Given the description of an element on the screen output the (x, y) to click on. 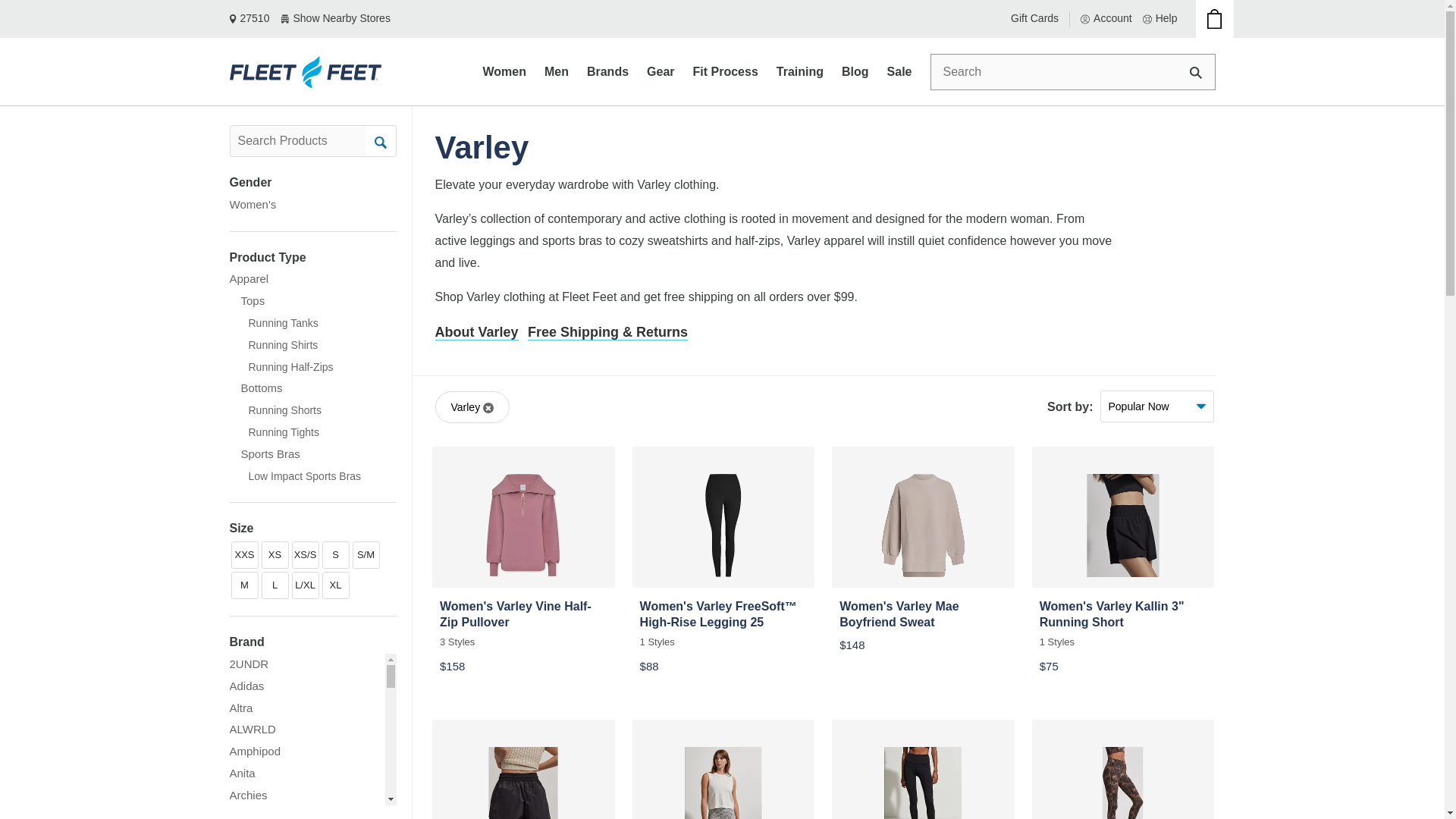
Type: Running Half-Zips (280, 366)
Type: Running Tanks (272, 322)
Size: XL (335, 584)
Type: Running Shirts (272, 344)
Size: L (274, 584)
Gender: Women's (252, 203)
Size: S (335, 554)
Type: Sports Bras (263, 453)
Size: XXS (243, 554)
Type: Apparel (247, 278)
